Given the description of an element on the screen output the (x, y) to click on. 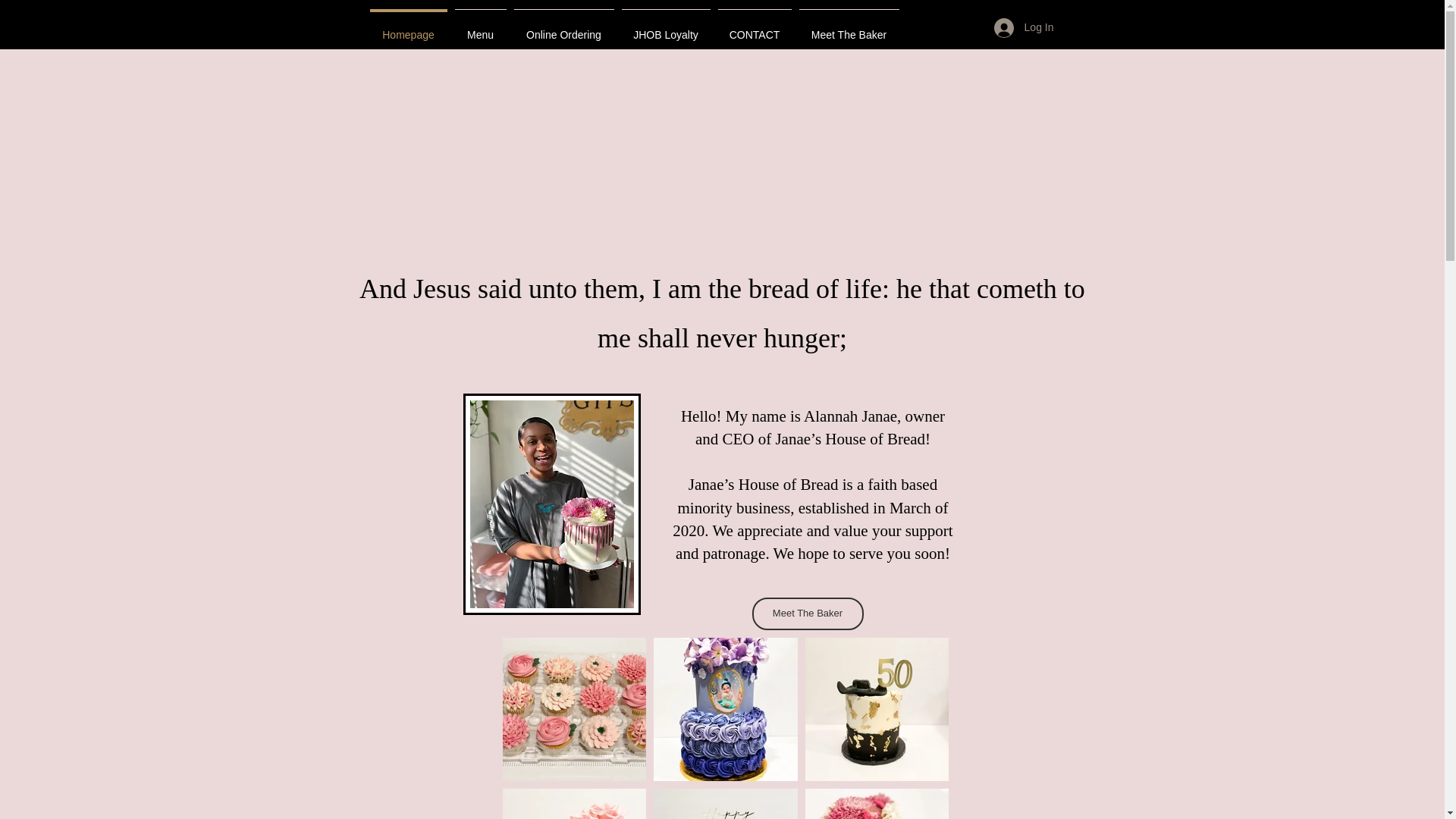
Meet The Baker (807, 613)
Smile.io Rewards Program Launcher (69, 780)
Meet The Baker (848, 27)
Log In (1024, 27)
CONTACT (754, 27)
Menu (479, 27)
JHOB Loyalty (665, 27)
Online Ordering (563, 27)
Homepage (407, 27)
